Given the description of an element on the screen output the (x, y) to click on. 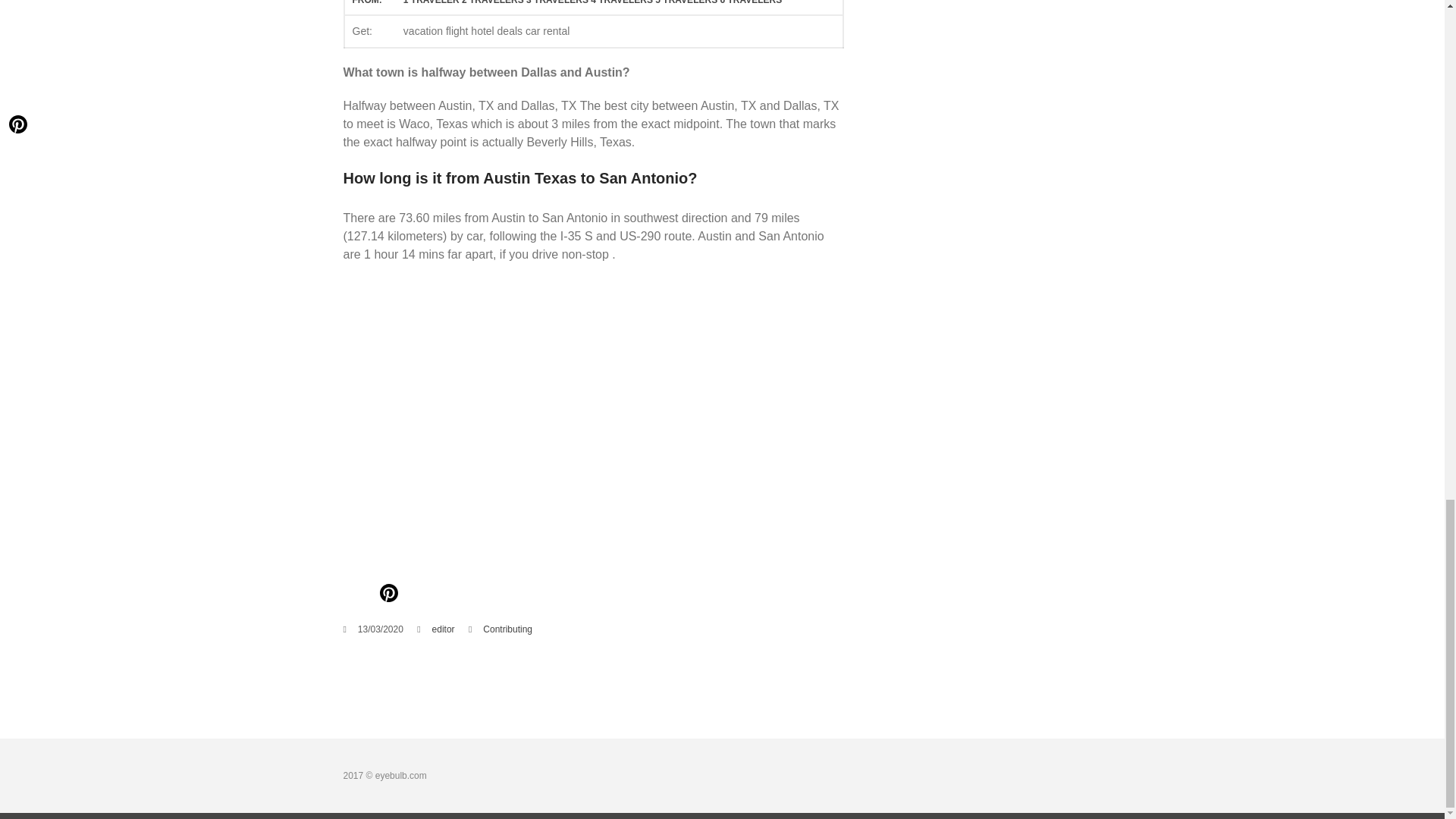
editor (443, 629)
Telegram (539, 594)
Messenger (509, 594)
View all posts in Contributing (507, 629)
Pinterest (387, 594)
Facebook (357, 594)
Email (418, 594)
Telegram (539, 594)
Facebook (357, 594)
Email (418, 594)
Messenger (509, 594)
WhatsApp (479, 594)
View all posts by editor (443, 629)
Pinterest (387, 594)
Reddit (448, 594)
